Given the description of an element on the screen output the (x, y) to click on. 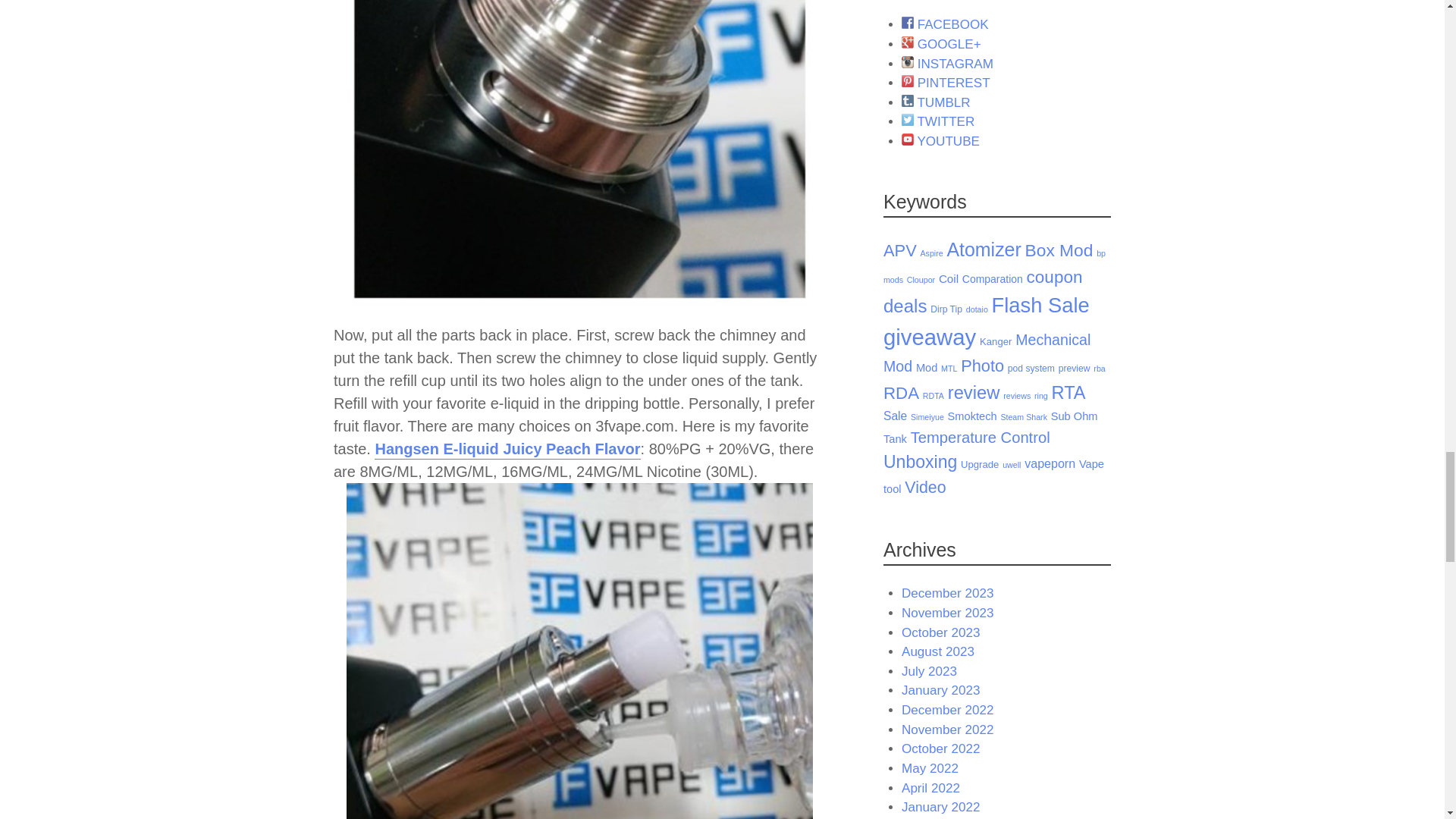
Hangsen E-liquid Juicy Peach Flavor (507, 449)
